Given the description of an element on the screen output the (x, y) to click on. 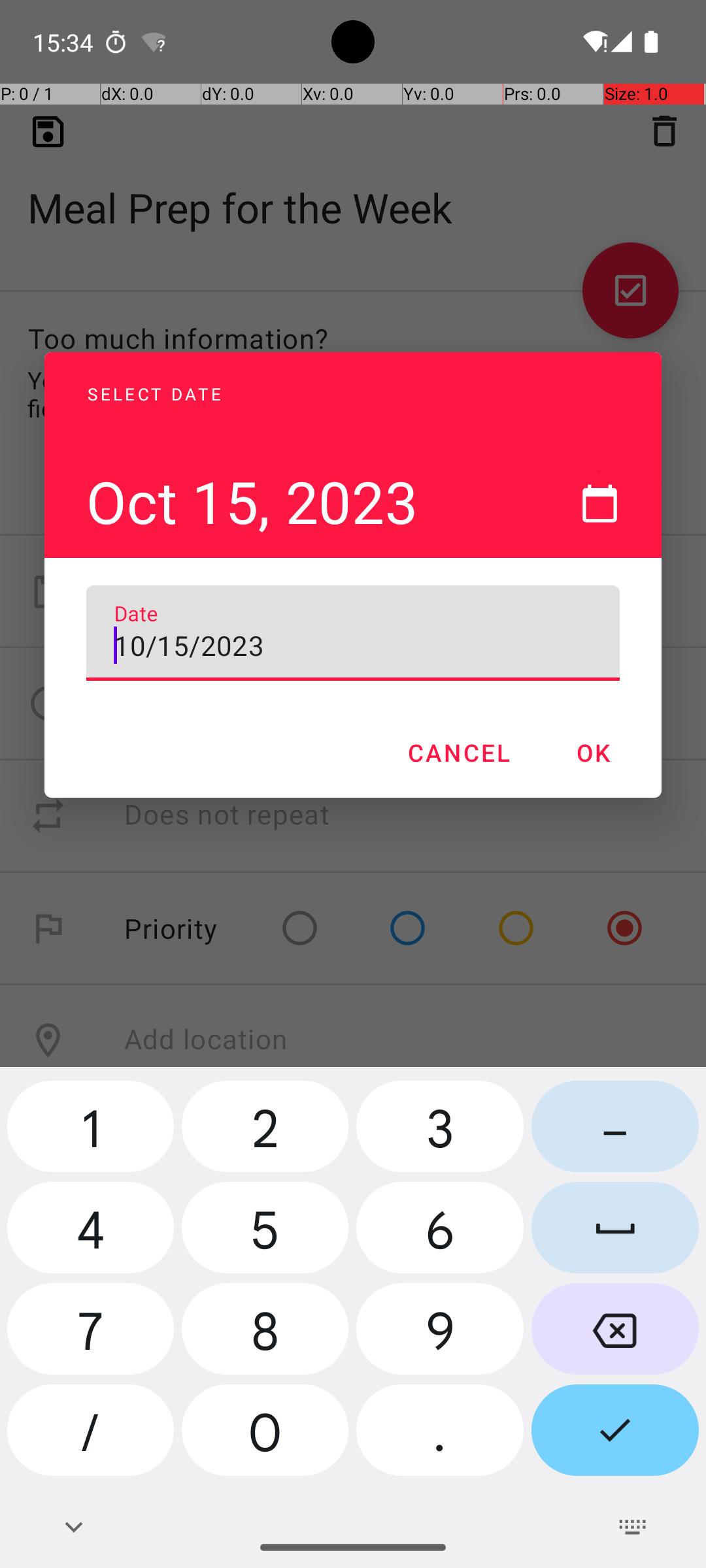
Switch to calendar input mode Element type: android.widget.ImageButton (599, 502)
10/15/2023 Element type: android.widget.EditText (352, 632)
Oct 15, 2023 Element type: android.widget.TextView (322, 446)
SELECT DATE Element type: android.widget.TextView (322, 378)
slash Element type: android.widget.FrameLayout (90, 1434)
